Given the description of an element on the screen output the (x, y) to click on. 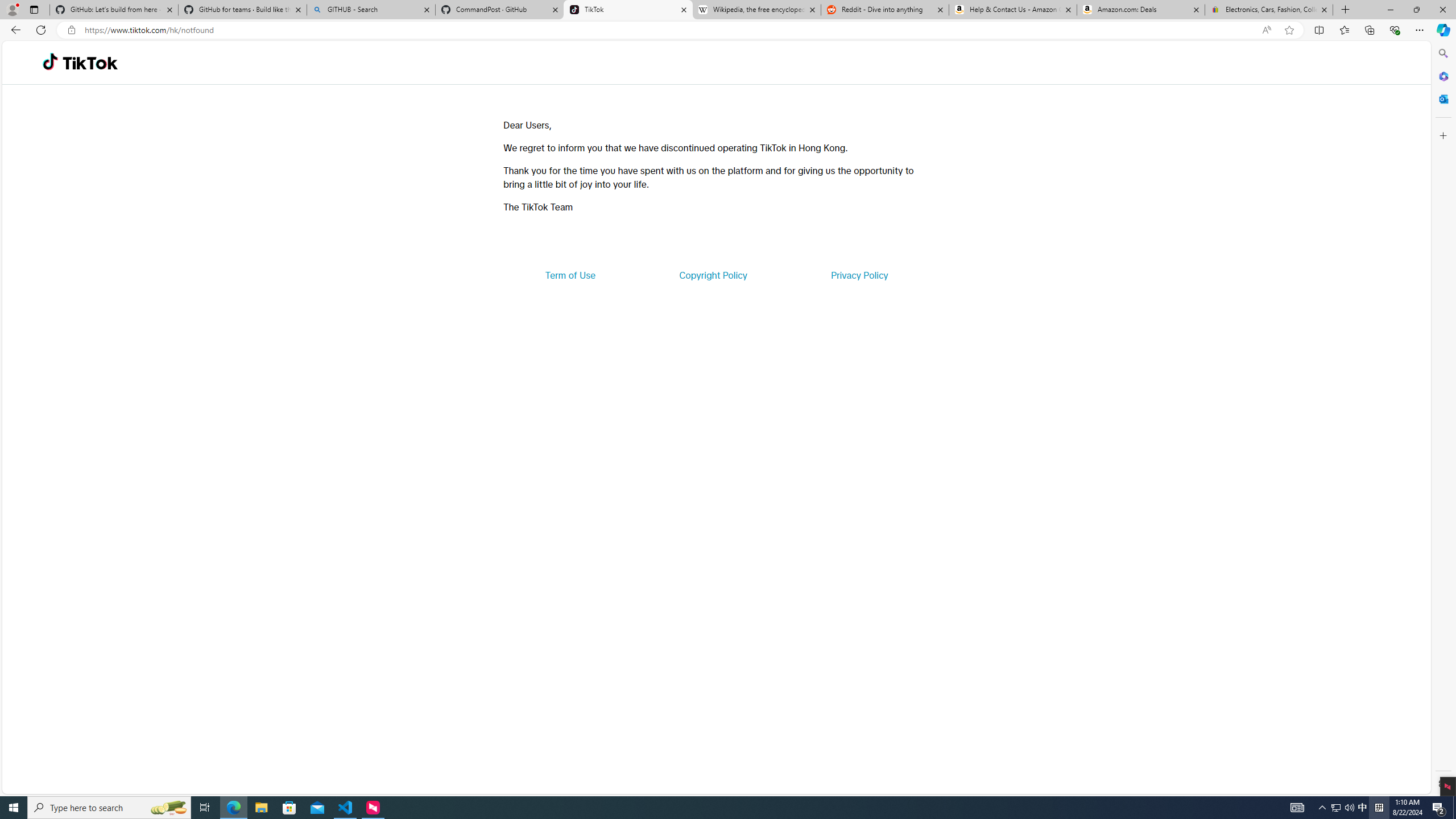
Term of Use (569, 274)
App bar (728, 29)
Amazon.com: Deals (1140, 9)
Wikipedia, the free encyclopedia (756, 9)
Side bar (1443, 418)
